Given the description of an element on the screen output the (x, y) to click on. 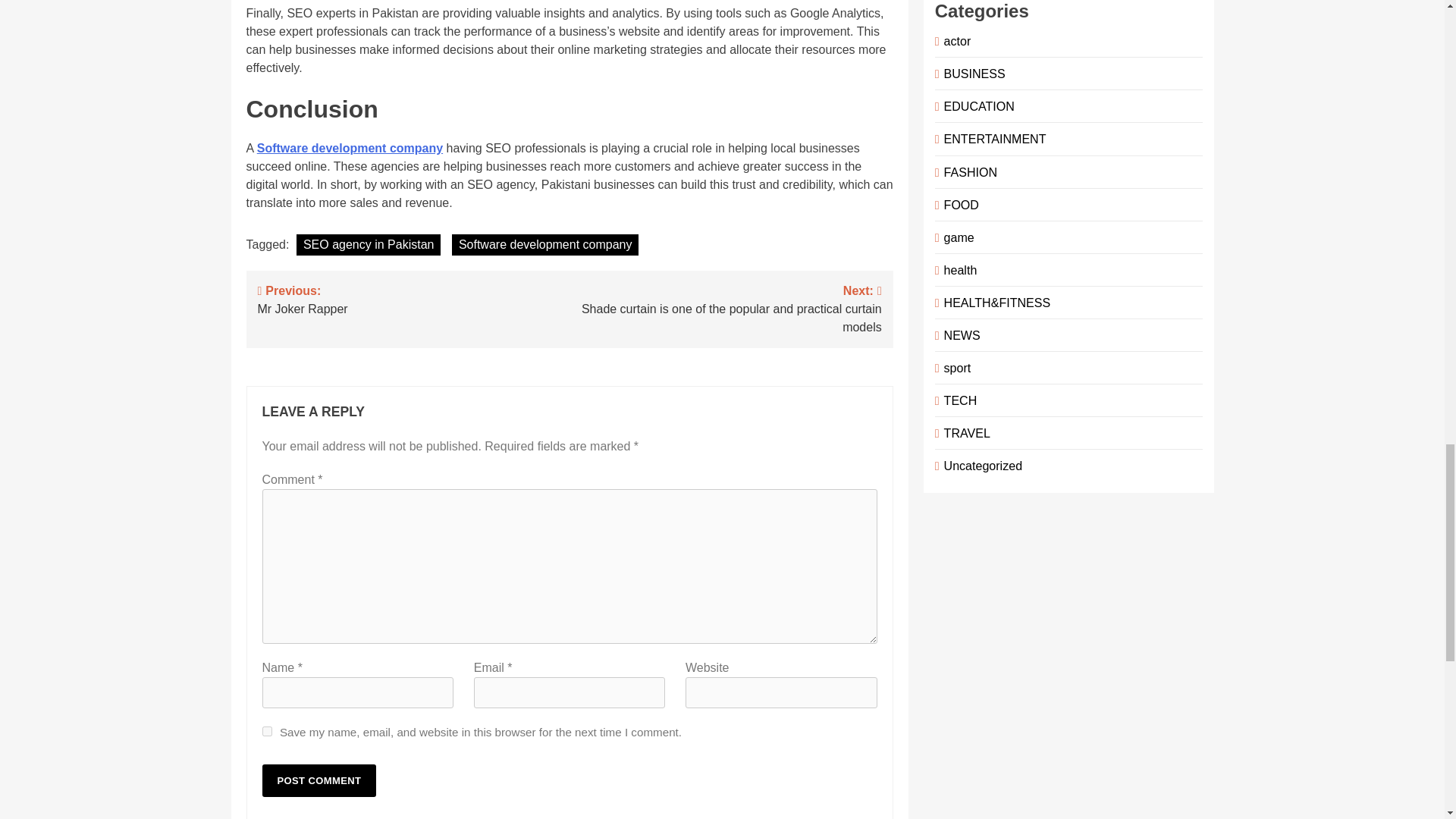
Post Comment (319, 780)
Software development company (545, 244)
yes (267, 731)
Post Comment (319, 780)
SEO agency in Pakistan (413, 298)
Software development company (369, 244)
